Given the description of an element on the screen output the (x, y) to click on. 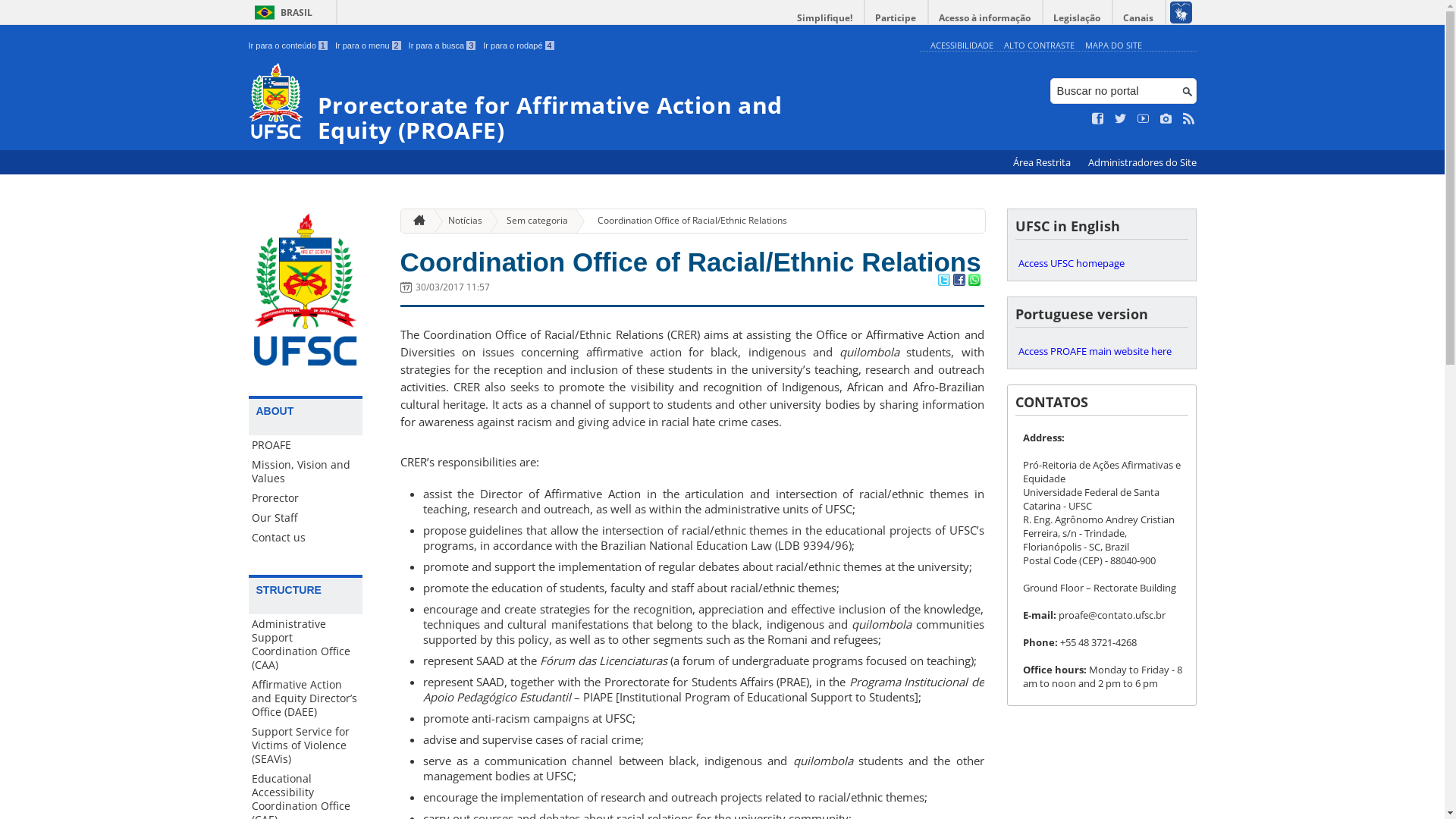
MAPA DO SITE Element type: text (1112, 44)
Prorector Element type: text (305, 498)
ALTO CONTRASTE Element type: text (1039, 44)
Compartilhar no Facebook Element type: hover (958, 280)
ACESSIBILIDADE Element type: text (960, 44)
Our Staff Element type: text (305, 517)
Curta no Facebook Element type: hover (1098, 118)
Simplifique! Element type: text (825, 18)
Contact us Element type: text (305, 537)
Coordination Office of Racial/Ethnic Relations Element type: text (690, 261)
Mission, Vision and Values Element type: text (305, 471)
Support Service for Victims of Violence (SEAVis) Element type: text (305, 744)
Canais Element type: text (1138, 18)
Administrative Support Coordination Office (CAA) Element type: text (305, 644)
Administradores do Site Element type: text (1141, 162)
Ir para o menu 2 Element type: text (368, 45)
Compartilhar no WhatsApp Element type: hover (973, 280)
Compartilhar no Twitter Element type: hover (943, 280)
Veja no Instagram Element type: hover (1166, 118)
Access UFSC homepage Element type: text (1100, 263)
Participe Element type: text (895, 18)
PROAFE Element type: text (305, 445)
BRASIL Element type: text (280, 12)
Siga no Twitter Element type: hover (1120, 118)
Access PROAFE main website here Element type: text (1100, 350)
Coordination Office of Racial/Ethnic Relations Element type: text (686, 220)
Prorectorate for Affirmative Action and Equity (PROAFE) Element type: text (580, 102)
Sem categoria Element type: text (531, 220)
Ir para a busca 3 Element type: text (442, 45)
